Given the description of an element on the screen output the (x, y) to click on. 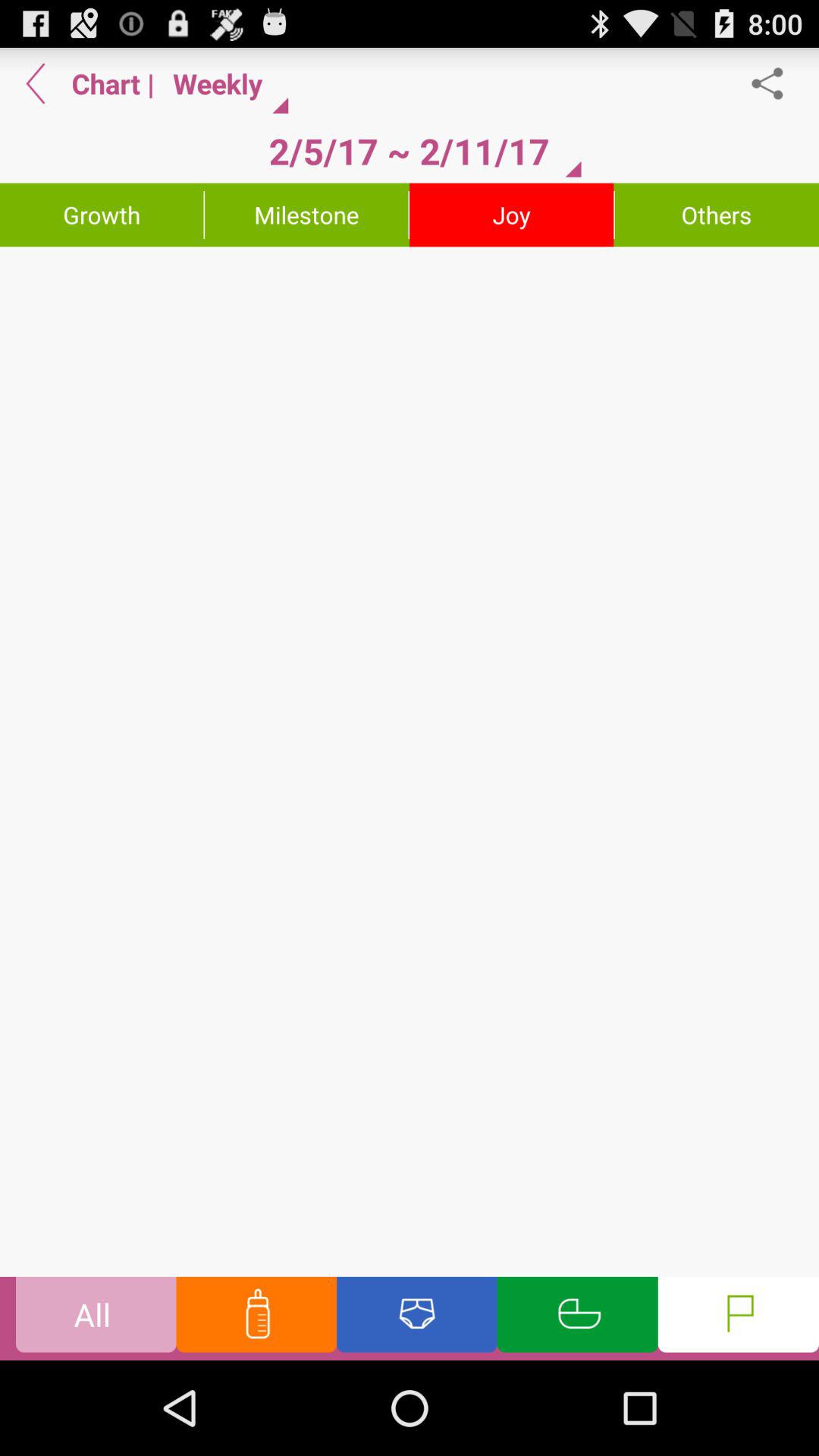
flip to 2 5 17 button (409, 151)
